Given the description of an element on the screen output the (x, y) to click on. 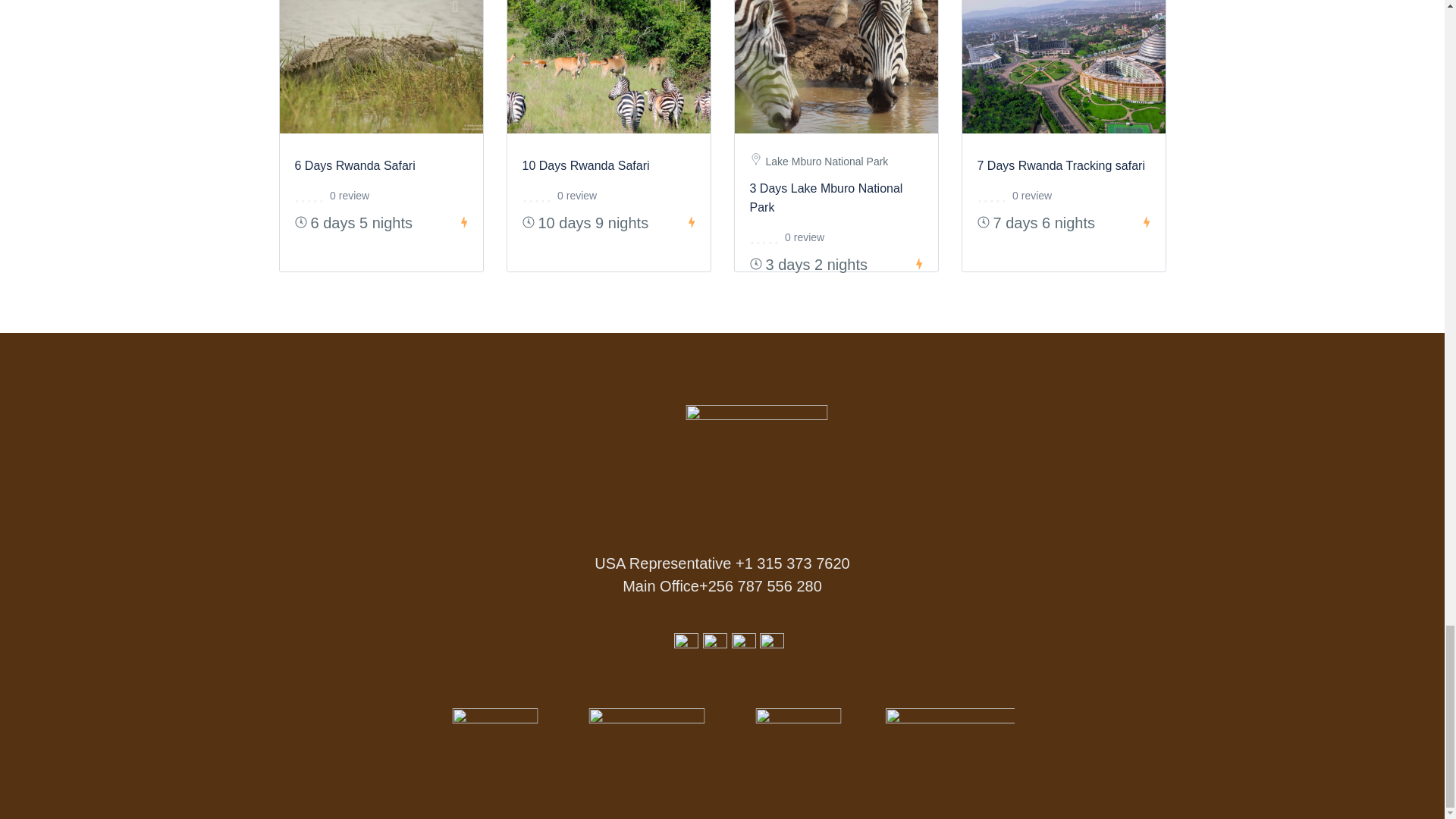
Add to wishlist (1145, 8)
Add to wishlist (462, 8)
Add to wishlist (690, 8)
Add to wishlist (918, 8)
